Given the description of an element on the screen output the (x, y) to click on. 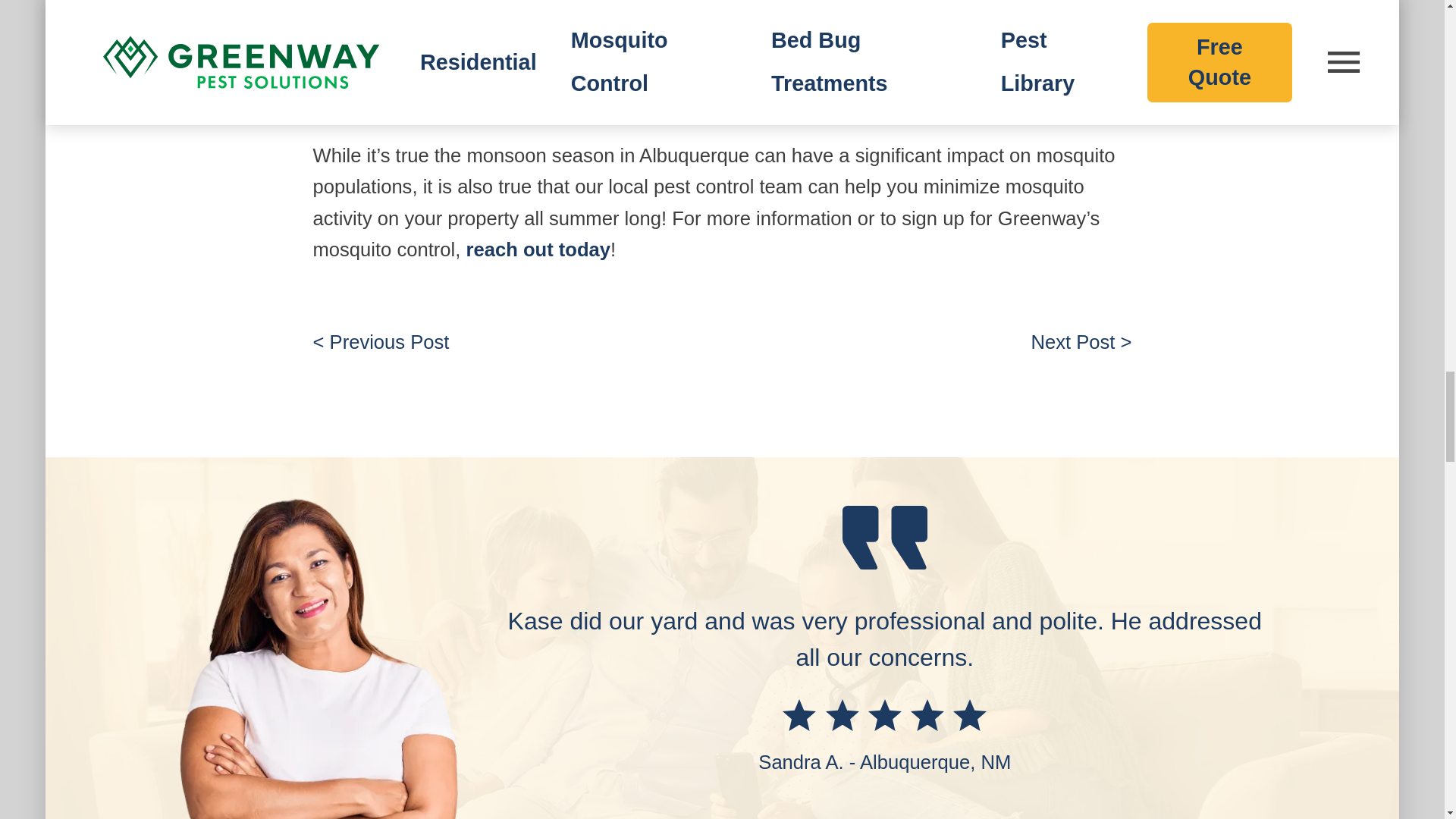
reach out today (538, 249)
